Given the description of an element on the screen output the (x, y) to click on. 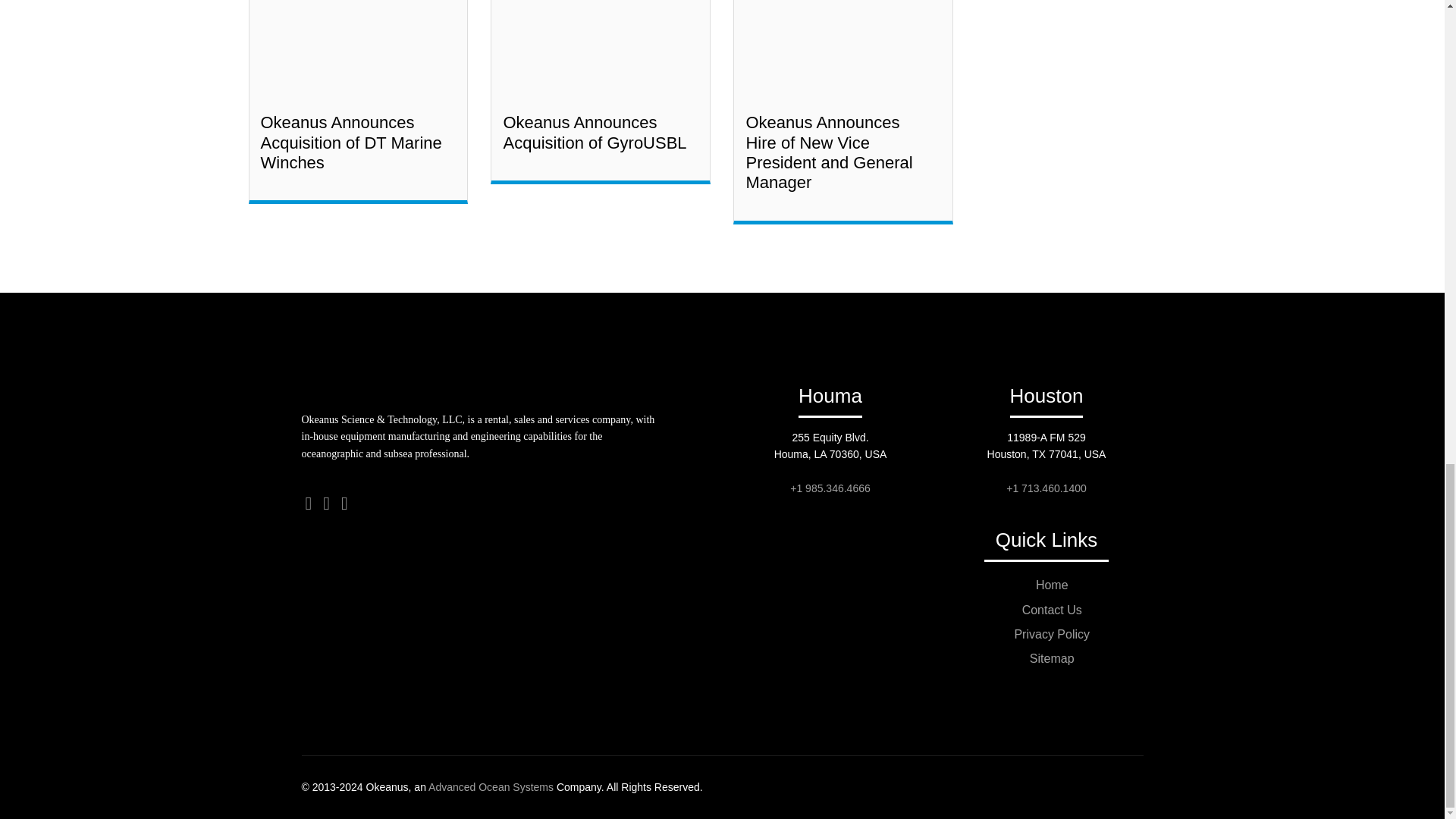
Okeanus Announces Acquisition of DT Marine Winches (351, 142)
Okeanus Announces Acquisition of GyroUSBL (593, 132)
